Given the description of an element on the screen output the (x, y) to click on. 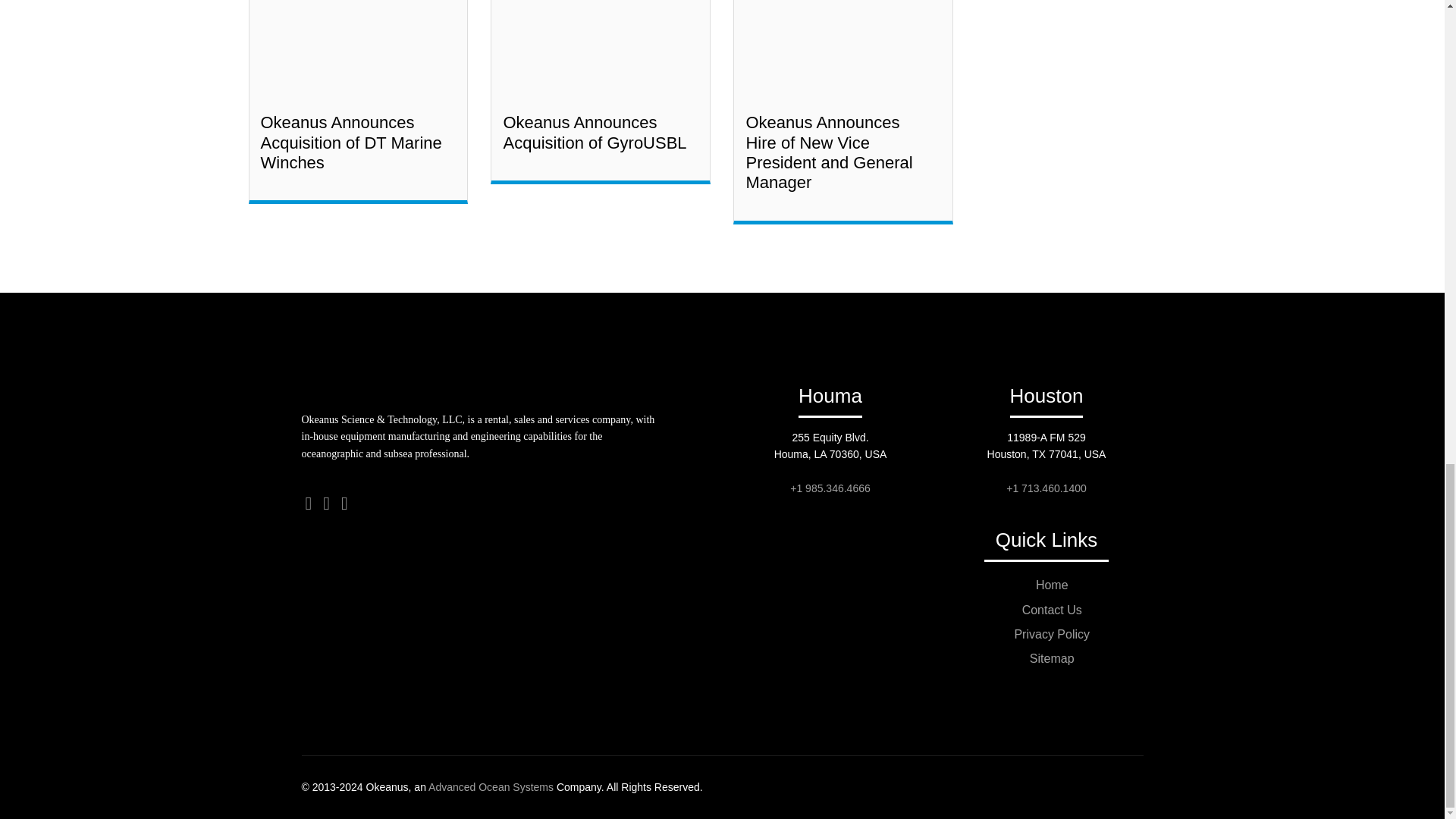
Okeanus Announces Acquisition of DT Marine Winches (351, 142)
Okeanus Announces Acquisition of GyroUSBL (593, 132)
